Given the description of an element on the screen output the (x, y) to click on. 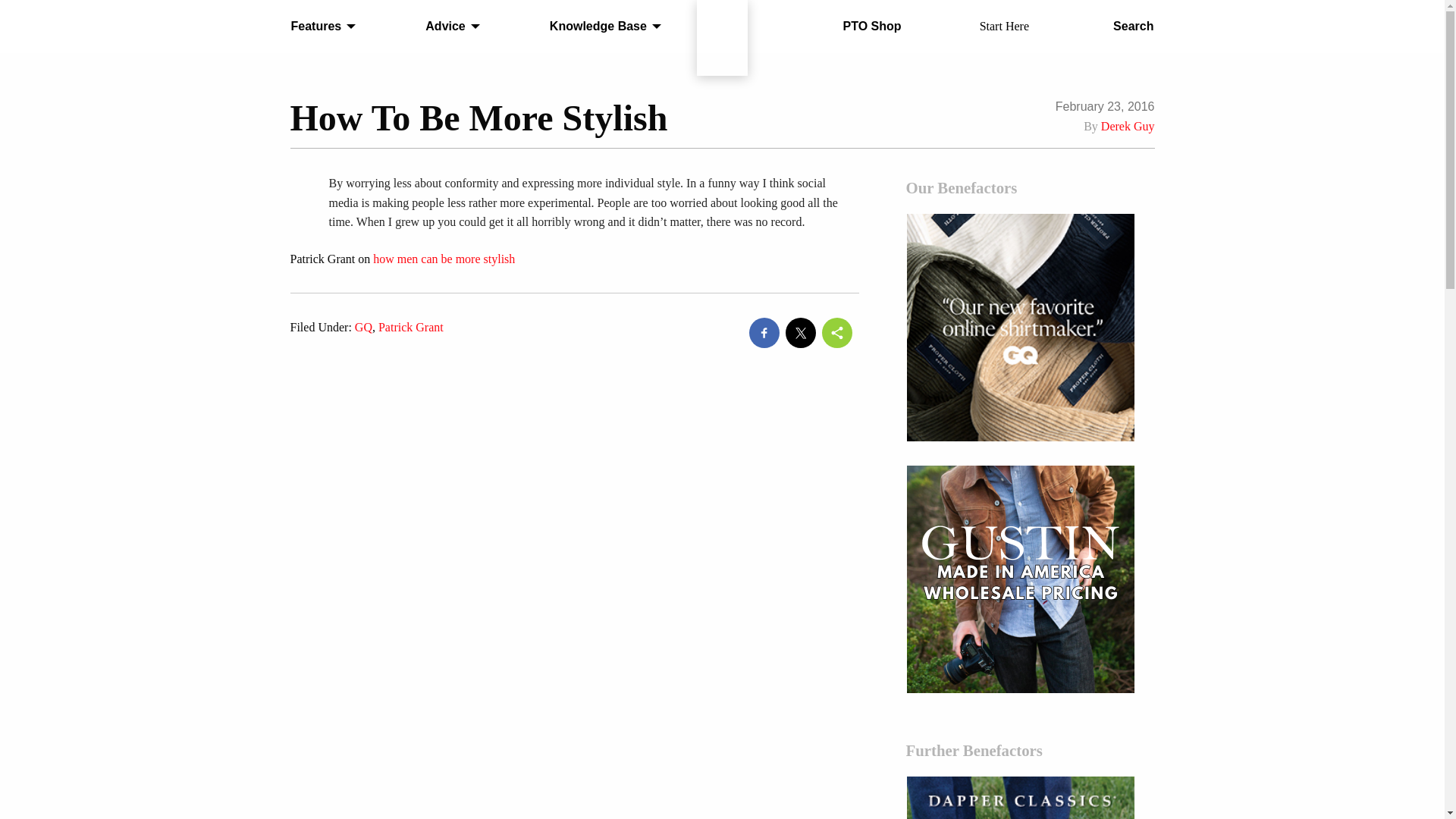
Features (319, 26)
Posts by Derek Guy (1127, 125)
Advice (448, 26)
